Given the description of an element on the screen output the (x, y) to click on. 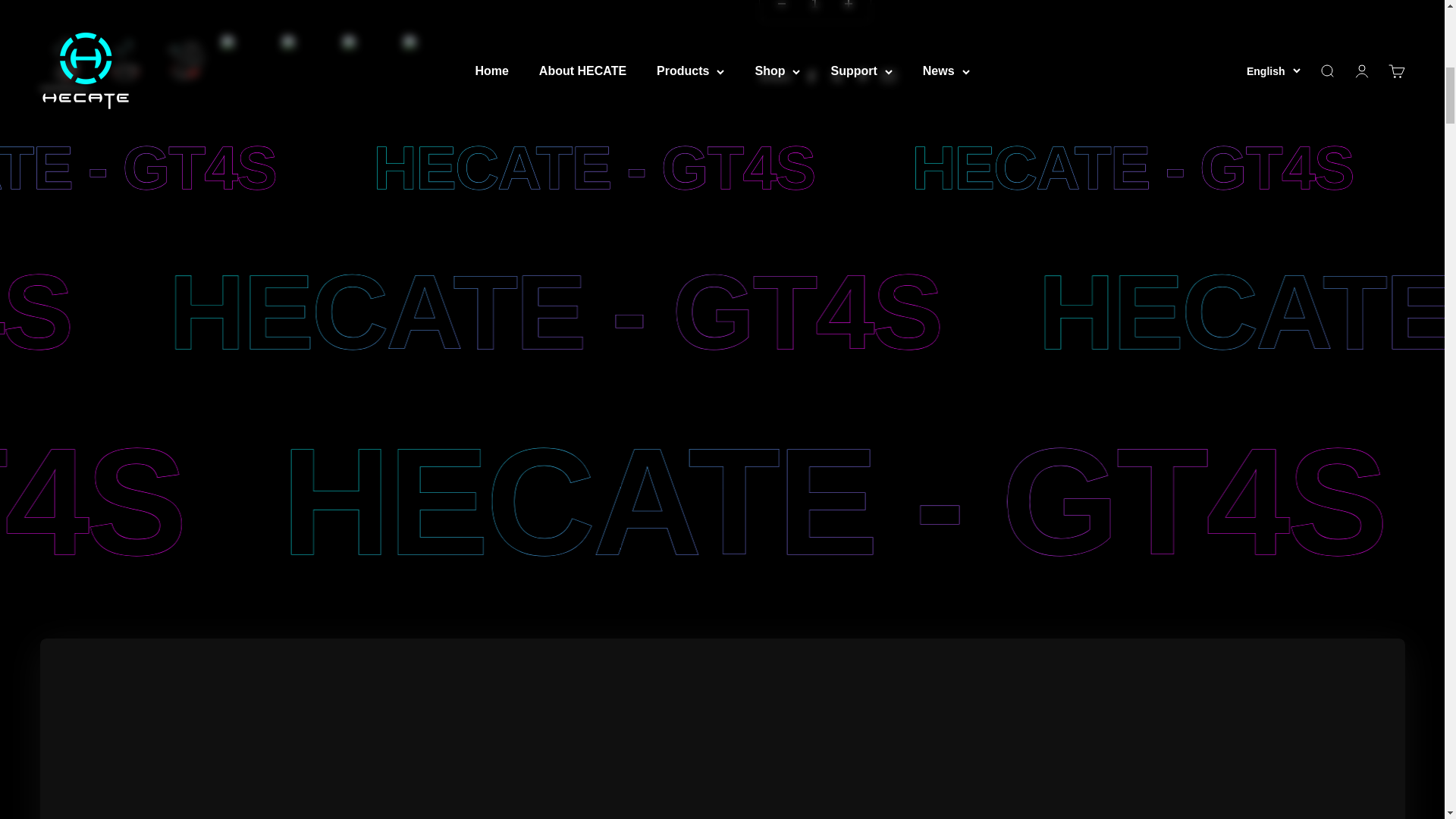
HECATE - GT4S (576, 312)
HECATE - GT4S (293, 168)
HECATE - GT4S (77, 312)
HECATE - GT4S (823, 168)
